Given the description of an element on the screen output the (x, y) to click on. 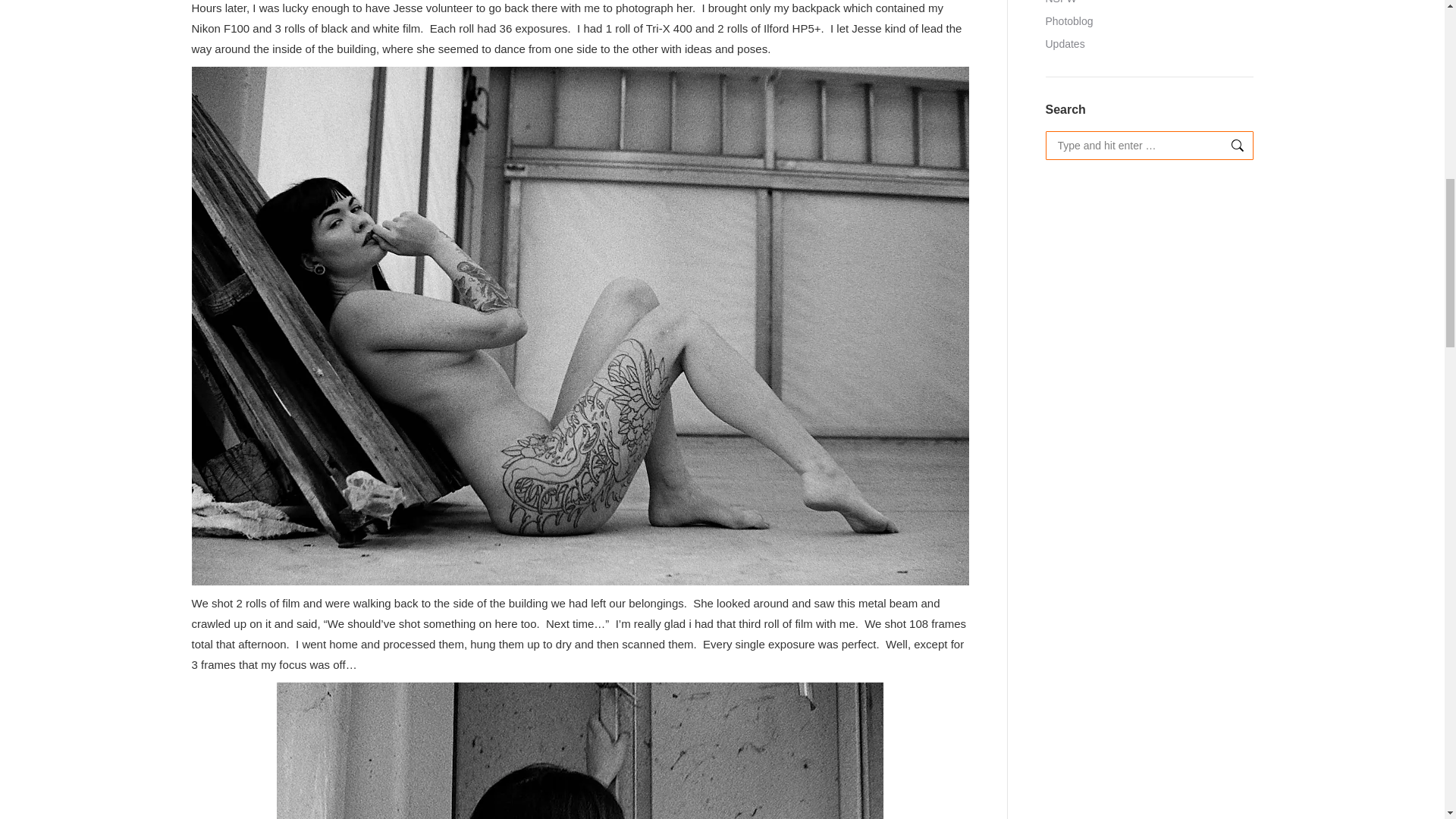
Go! (1229, 145)
Go! (1229, 145)
